Given the description of an element on the screen output the (x, y) to click on. 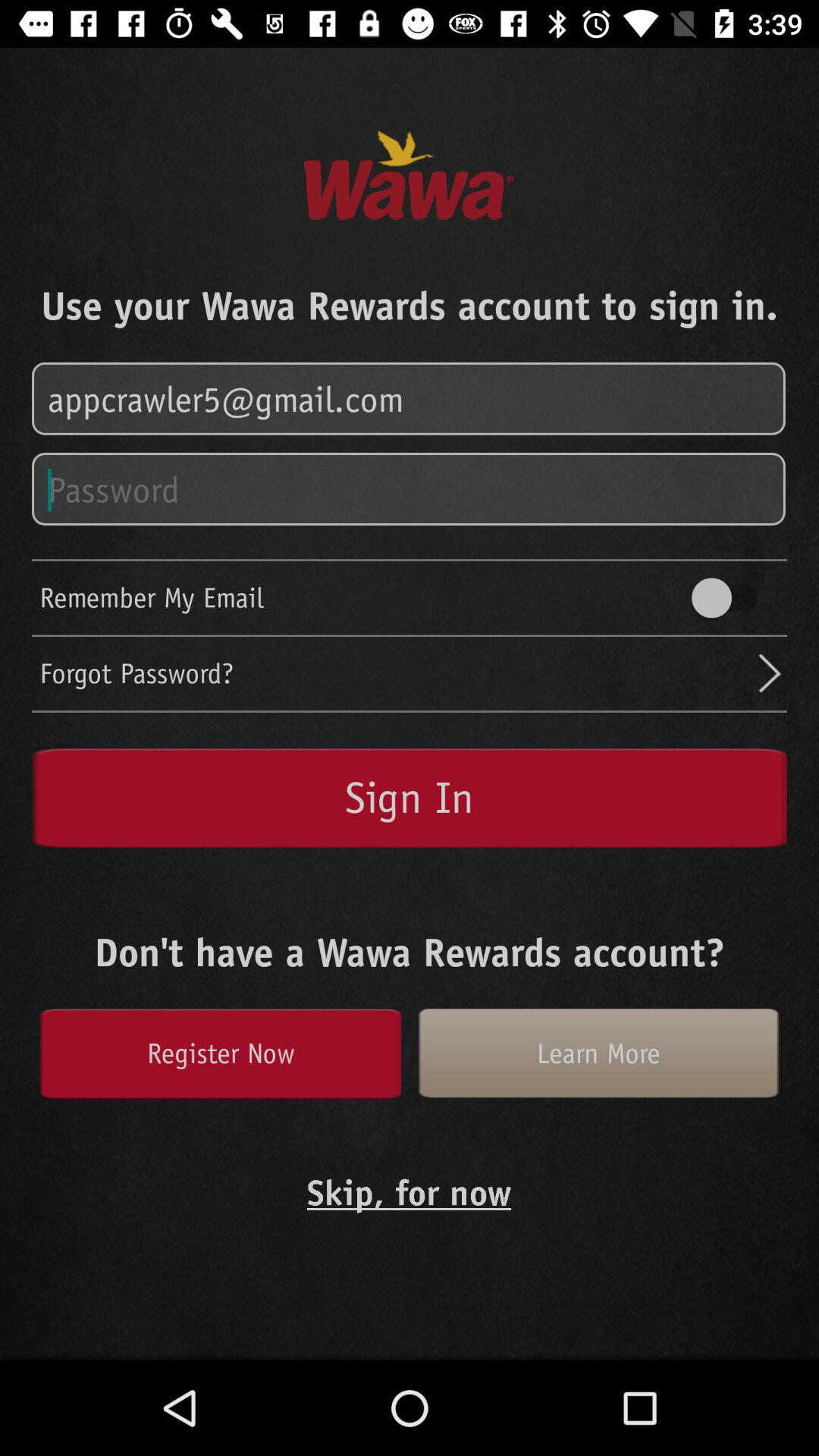
swipe until skip, for now (409, 1192)
